Given the description of an element on the screen output the (x, y) to click on. 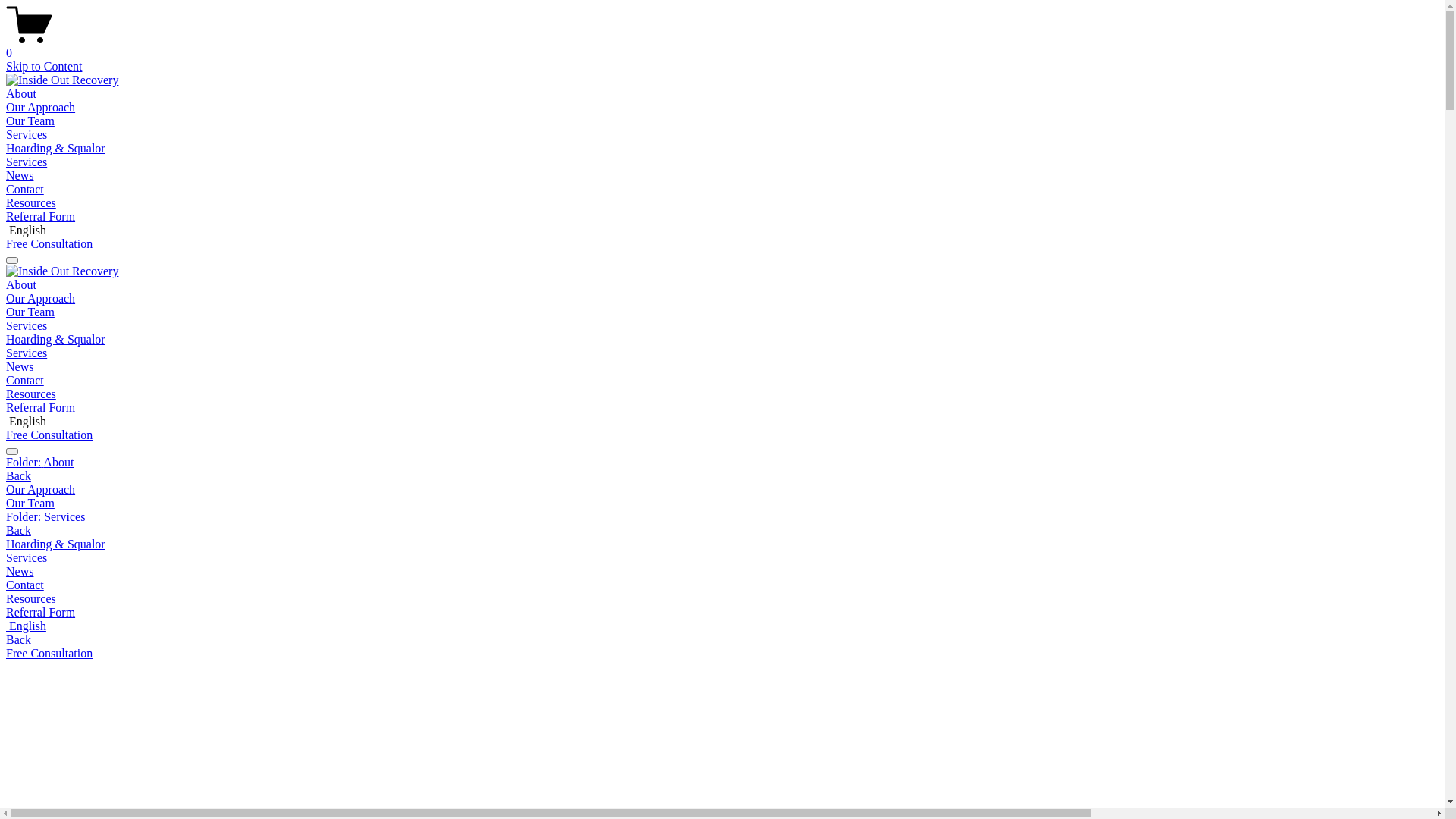
Referral Form Element type: text (40, 407)
Contact Element type: text (24, 379)
Referral Form Element type: text (722, 612)
Our Approach Element type: text (40, 106)
Our Team Element type: text (30, 120)
Free Consultation Element type: text (49, 652)
Hoarding & Squalor Element type: text (722, 544)
Our Team Element type: text (722, 503)
Services Element type: text (722, 557)
Contact Element type: text (24, 188)
Hoarding & Squalor Element type: text (55, 147)
Services Element type: text (26, 325)
Back Element type: text (18, 475)
Folder: Services Element type: text (722, 517)
Services Element type: text (26, 352)
Services Element type: text (26, 134)
News Element type: text (19, 366)
Our Approach Element type: text (722, 489)
Hoarding & Squalor Element type: text (55, 338)
Back Element type: text (18, 639)
Resources Element type: text (31, 202)
Contact Element type: text (722, 585)
Resources Element type: text (722, 598)
Folder: About Element type: text (722, 462)
News Element type: text (19, 175)
About Element type: text (21, 93)
Free Consultation Element type: text (49, 243)
Services Element type: text (26, 161)
English Element type: text (722, 626)
Our Team Element type: text (30, 311)
0 Element type: text (722, 45)
Free Consultation Element type: text (49, 434)
About Element type: text (21, 284)
News Element type: text (722, 571)
Resources Element type: text (31, 393)
Our Approach Element type: text (40, 297)
Back Element type: text (18, 530)
Skip to Content Element type: text (43, 65)
Referral Form Element type: text (40, 216)
